Given the description of an element on the screen output the (x, y) to click on. 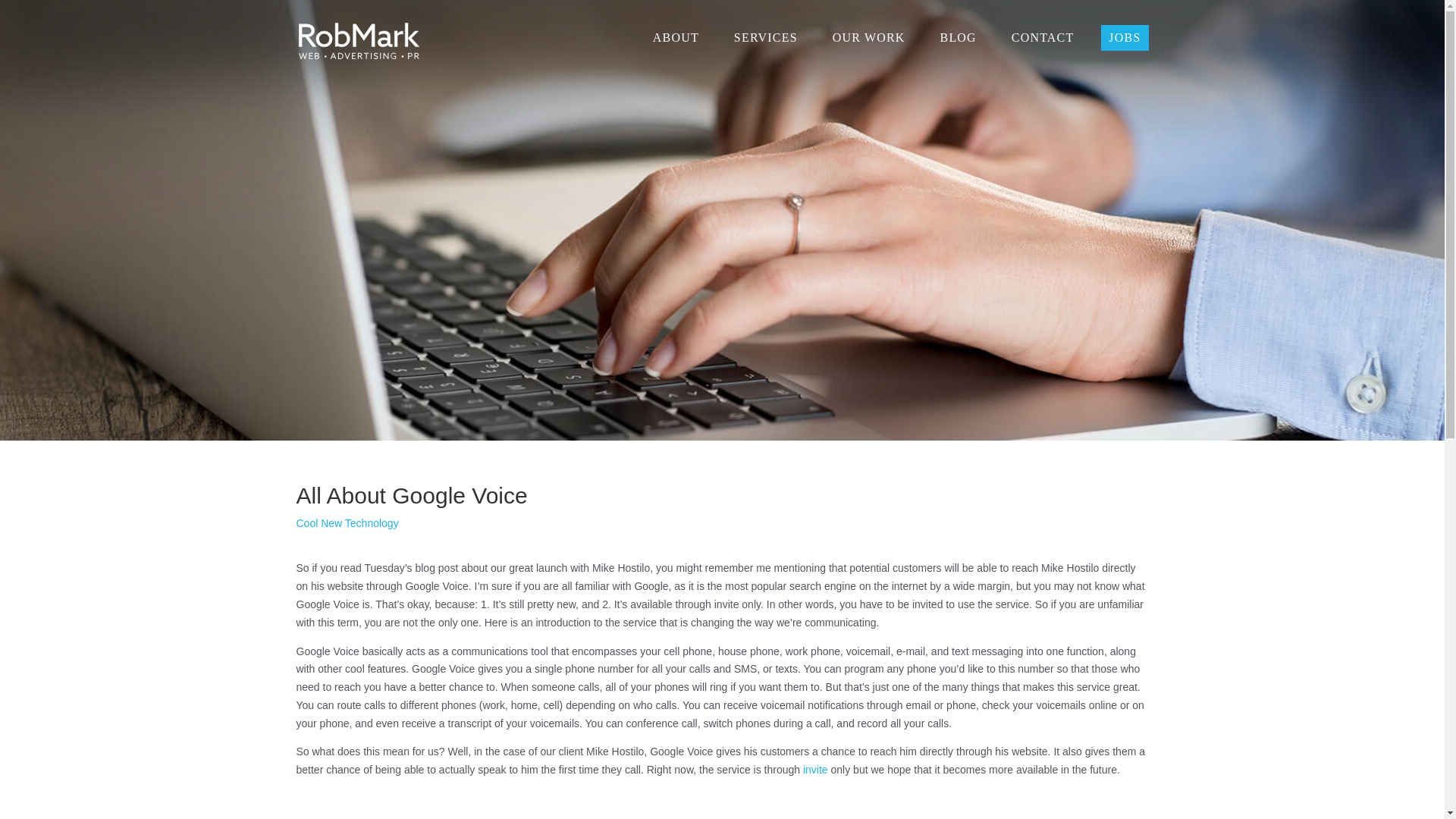
Go to All About Google Voice. (333, 17)
ABOUT (675, 37)
Go to the Cool New Technology category archives. (219, 8)
JOBS (1124, 37)
CONTACT (1042, 37)
OUR WORK (868, 37)
All About Google Voice (333, 17)
invite (815, 769)
BLOG (958, 37)
SERVICES (765, 37)
Cool New Technology (219, 8)
Cool New Technology (346, 522)
